Given the description of an element on the screen output the (x, y) to click on. 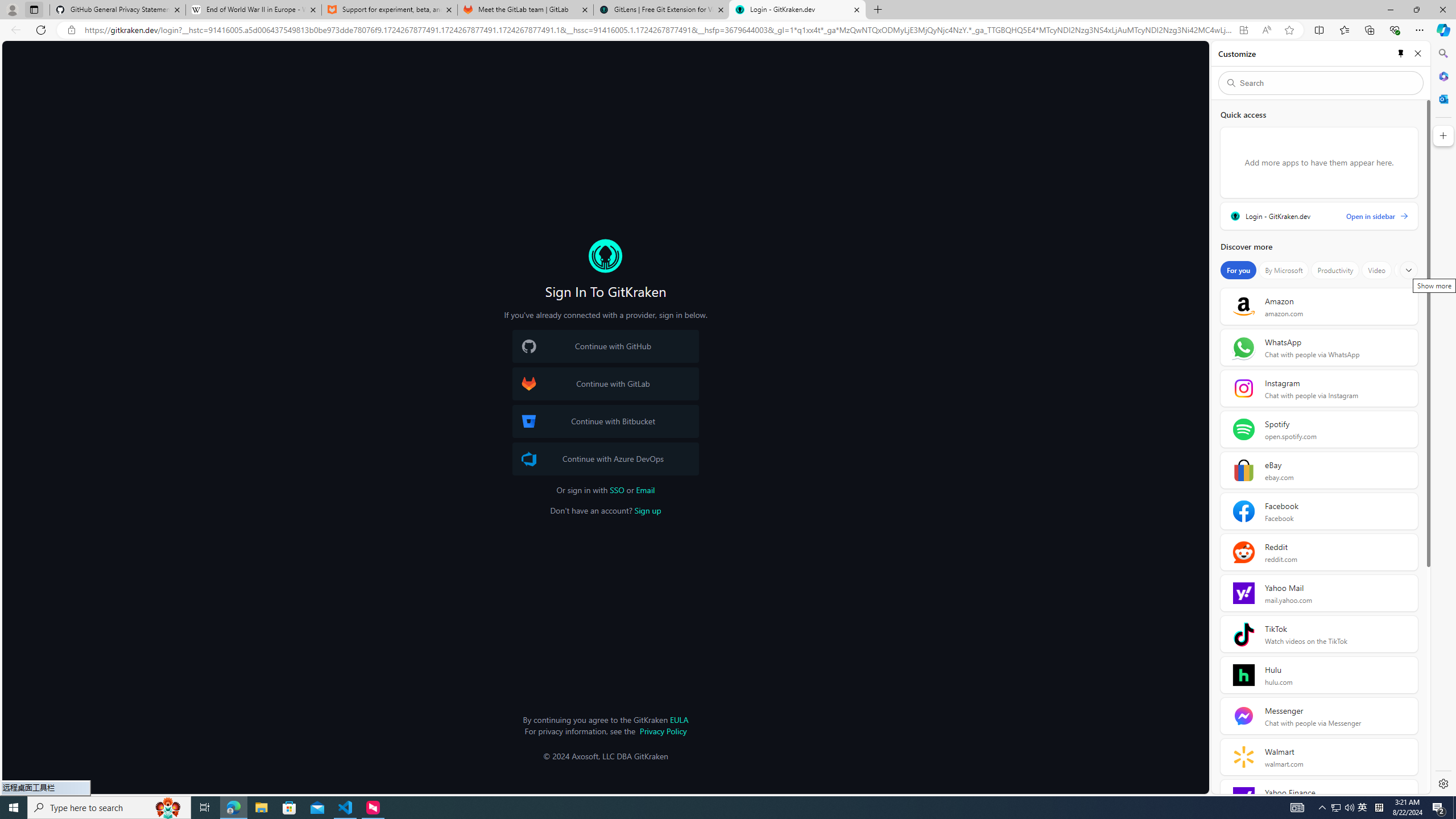
EULA (678, 719)
Productivity (1334, 270)
Video (1376, 270)
For you (1238, 270)
Bitbucket Logo Continue with Bitbucket (605, 421)
Meet the GitLab team | GitLab (525, 9)
Login - GitKraken.dev (797, 9)
GitLab Logo (528, 383)
